Given the description of an element on the screen output the (x, y) to click on. 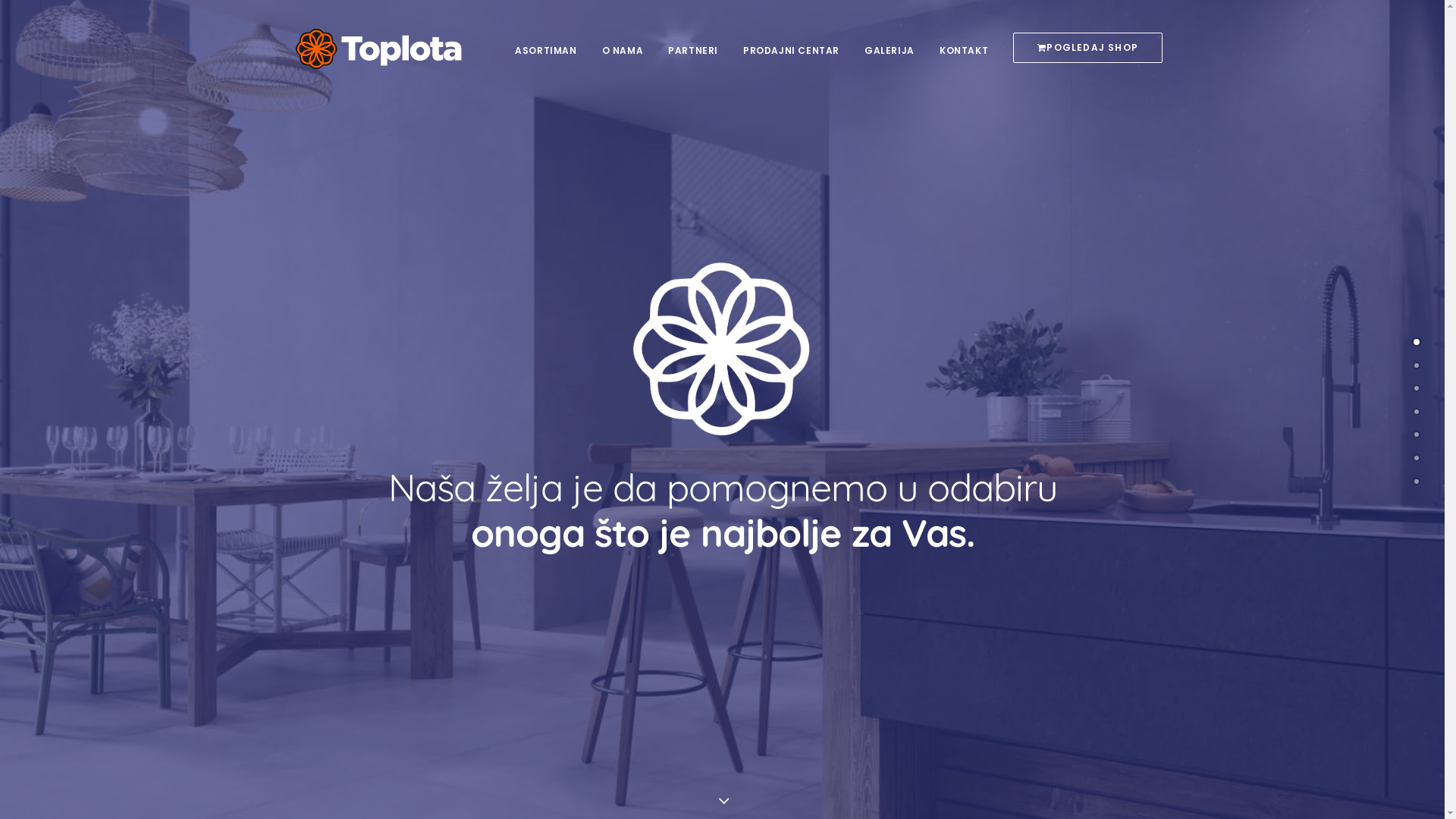
KONTAKT Element type: text (963, 48)
PRODAJNI CENTAR Element type: text (791, 48)
POGLEDAJ SHOP Element type: text (1082, 47)
O NAMA Element type: text (622, 48)
PARTNERI Element type: text (692, 48)
GALERIJA Element type: text (889, 48)
ASORTIMAN Element type: text (550, 48)
